Given the description of an element on the screen output the (x, y) to click on. 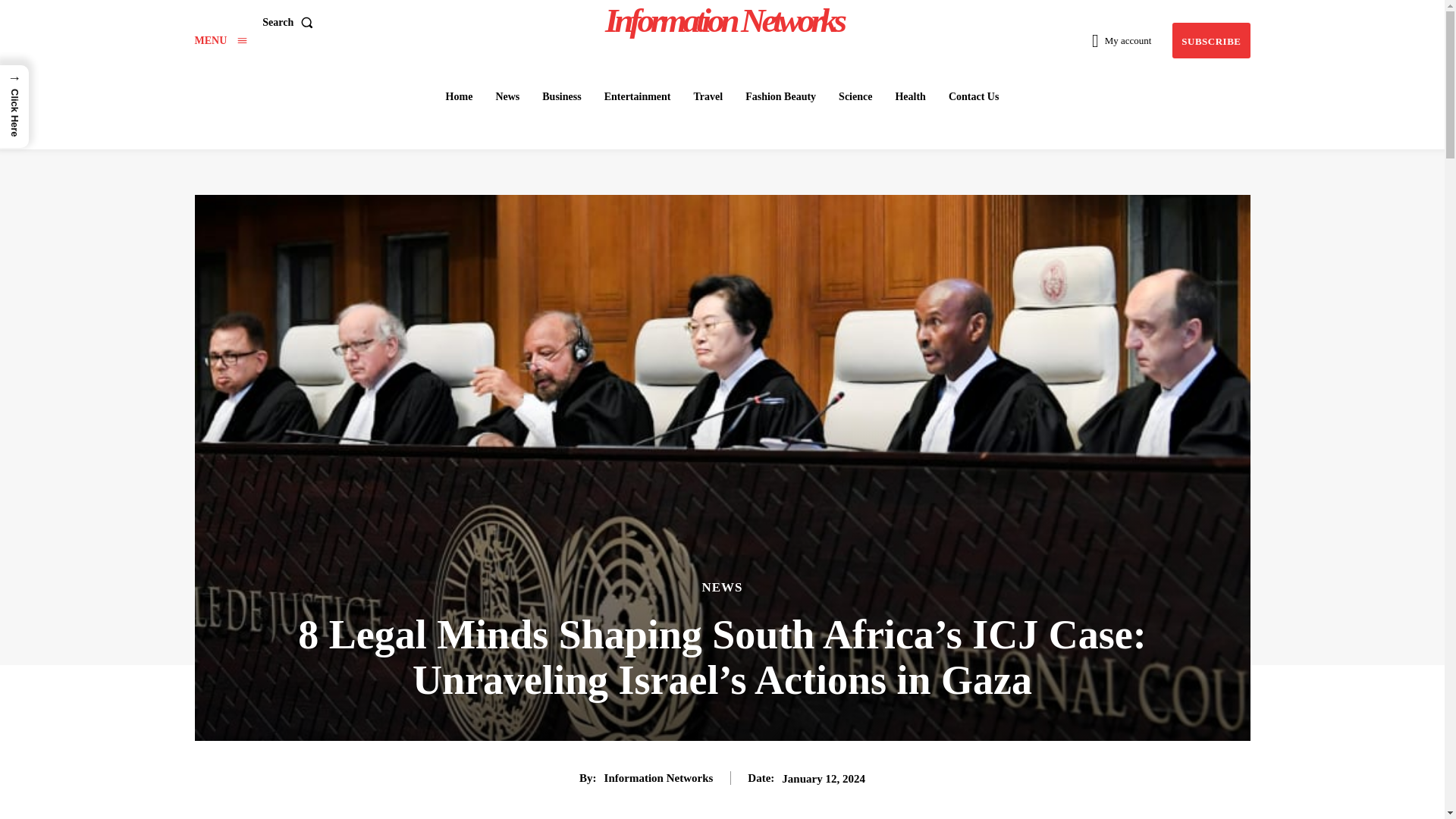
Subscribe (1210, 40)
SUBSCRIBE (1210, 40)
Menu (220, 40)
News (507, 97)
Business (561, 97)
Information Networks (724, 20)
Entertainment (637, 97)
Home (459, 97)
Search (290, 21)
MENU (220, 40)
